Given the description of an element on the screen output the (x, y) to click on. 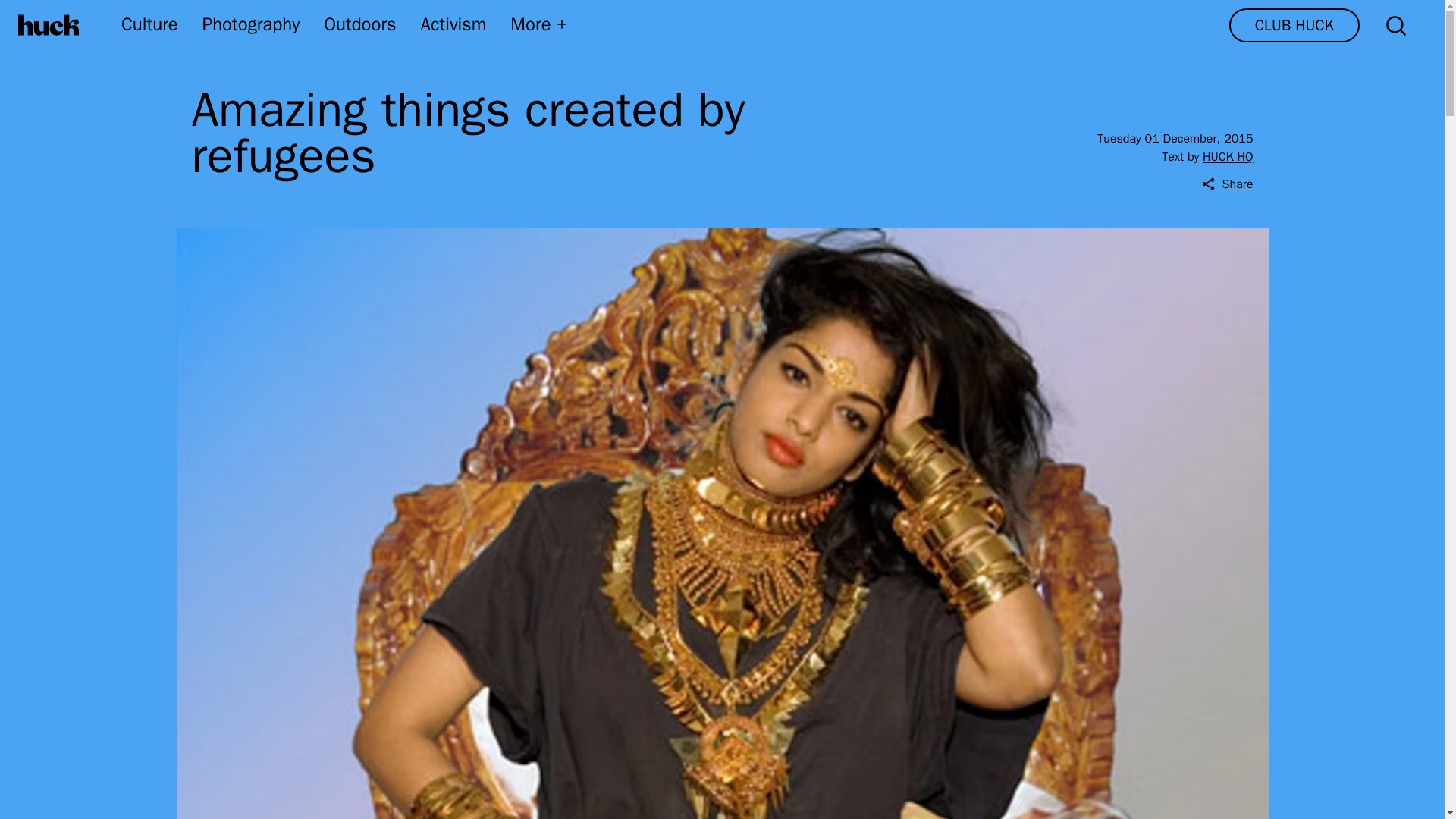
Photography (250, 24)
Activism (453, 24)
More (540, 24)
Culture (148, 24)
Share (1226, 183)
Outdoors (359, 24)
CLUB HUCK (1293, 25)
Huck (48, 25)
HUCK HQ (1227, 156)
